Given the description of an element on the screen output the (x, y) to click on. 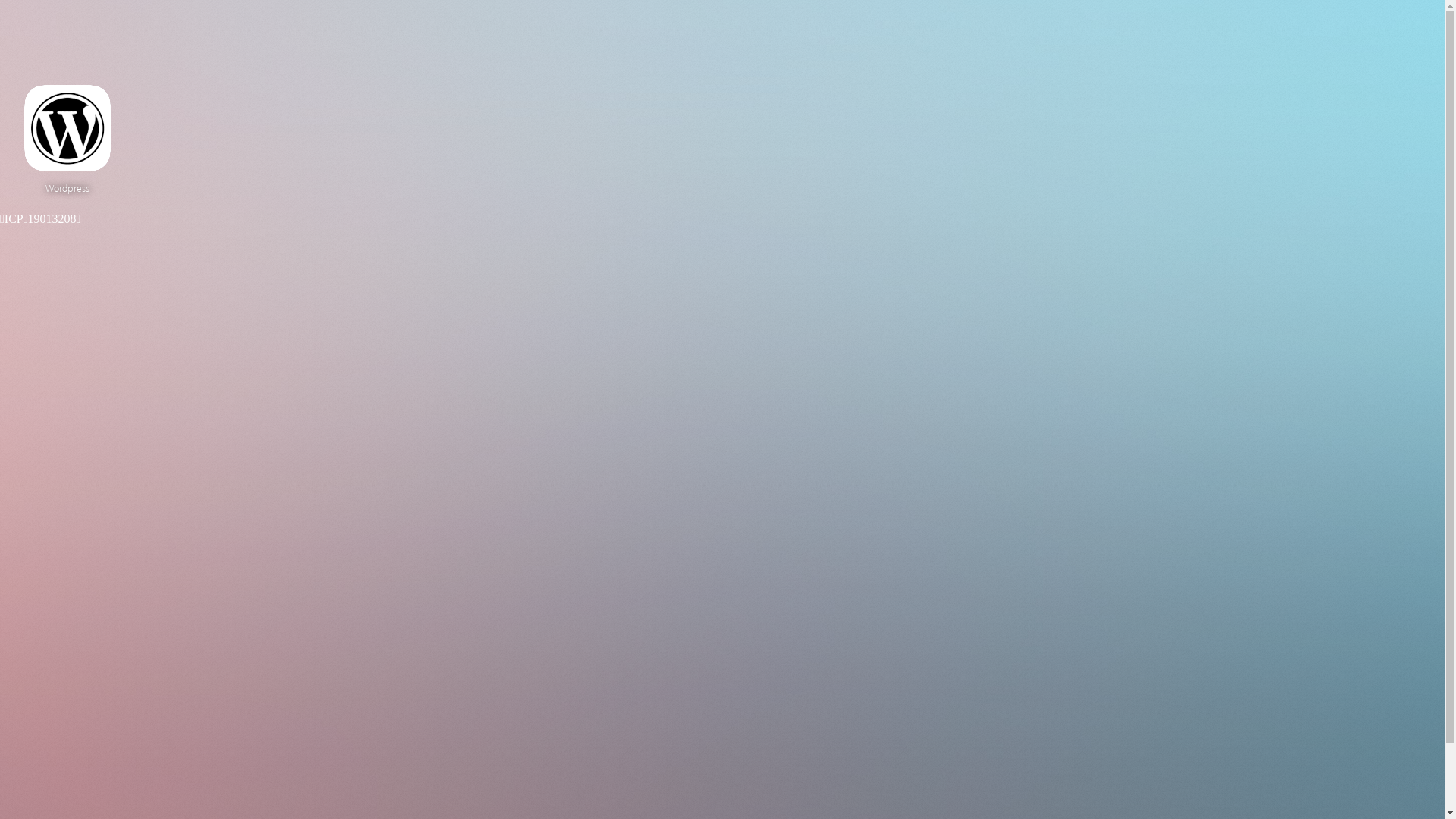
Wordpress Element type: text (67, 139)
